Given the description of an element on the screen output the (x, y) to click on. 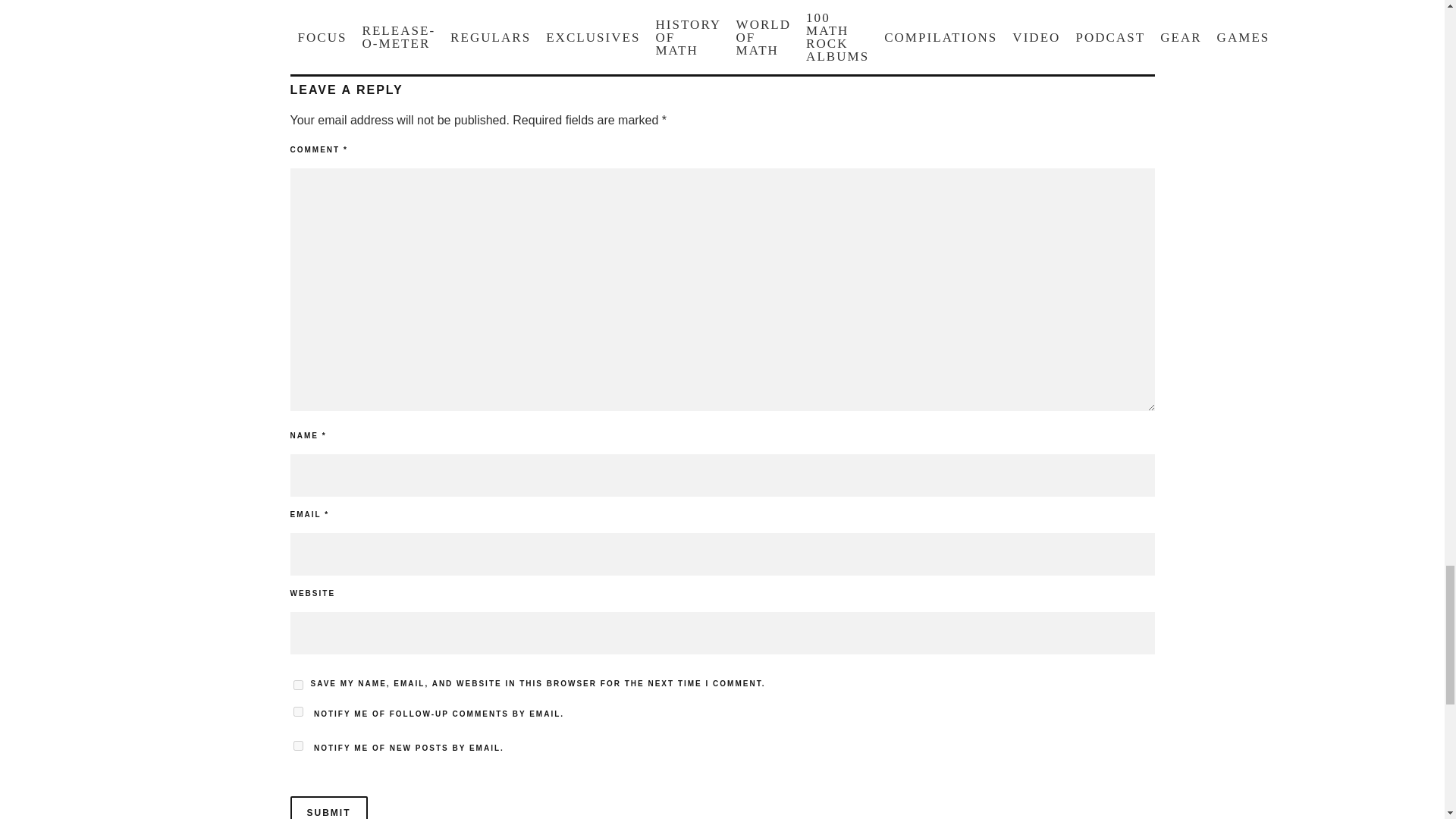
subscribe (297, 746)
subscribe (297, 711)
yes (297, 685)
Submit (327, 807)
